Given the description of an element on the screen output the (x, y) to click on. 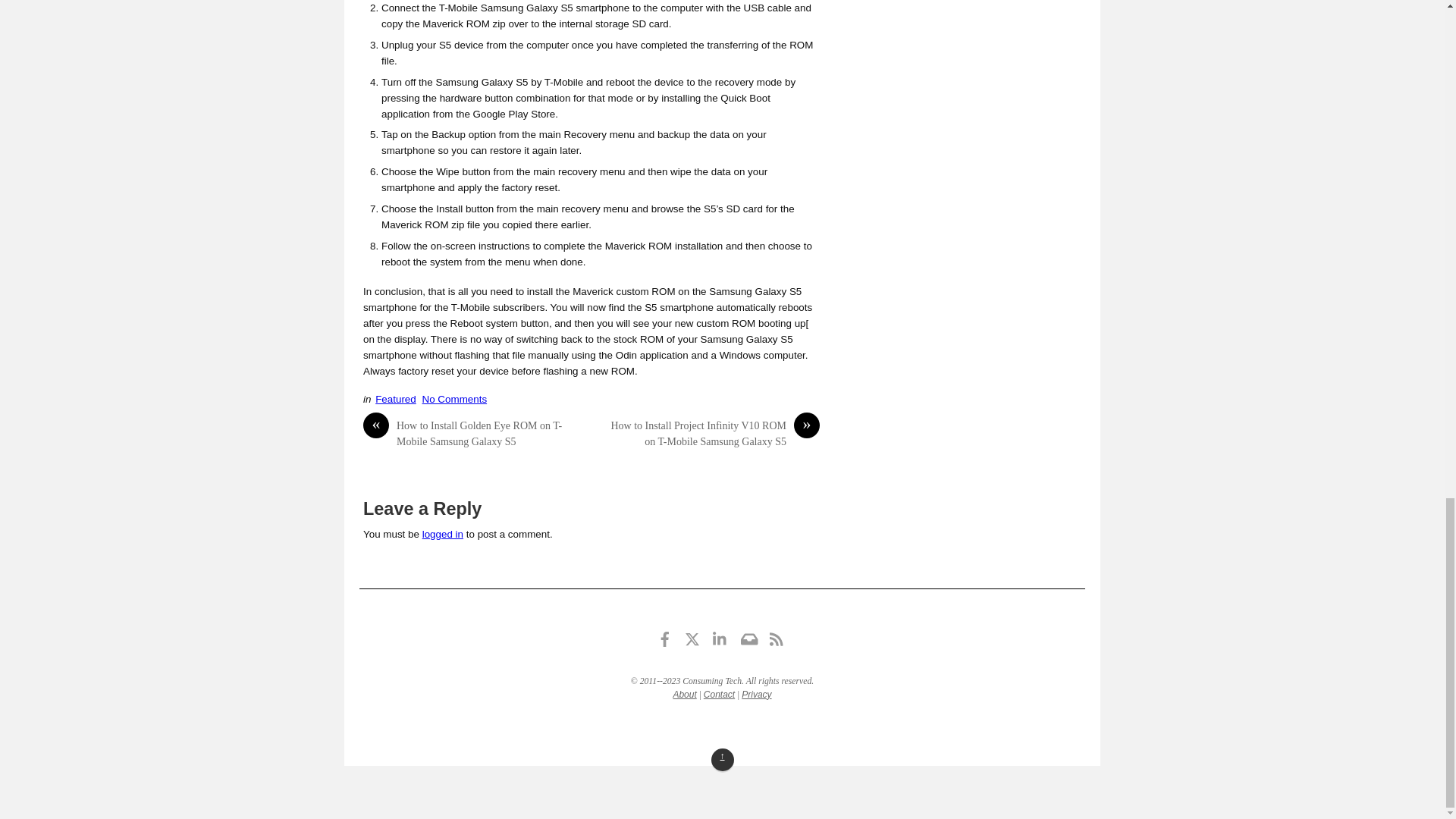
Advertisement (898, 227)
No Comments (454, 398)
Featured (395, 398)
